Given the description of an element on the screen output the (x, y) to click on. 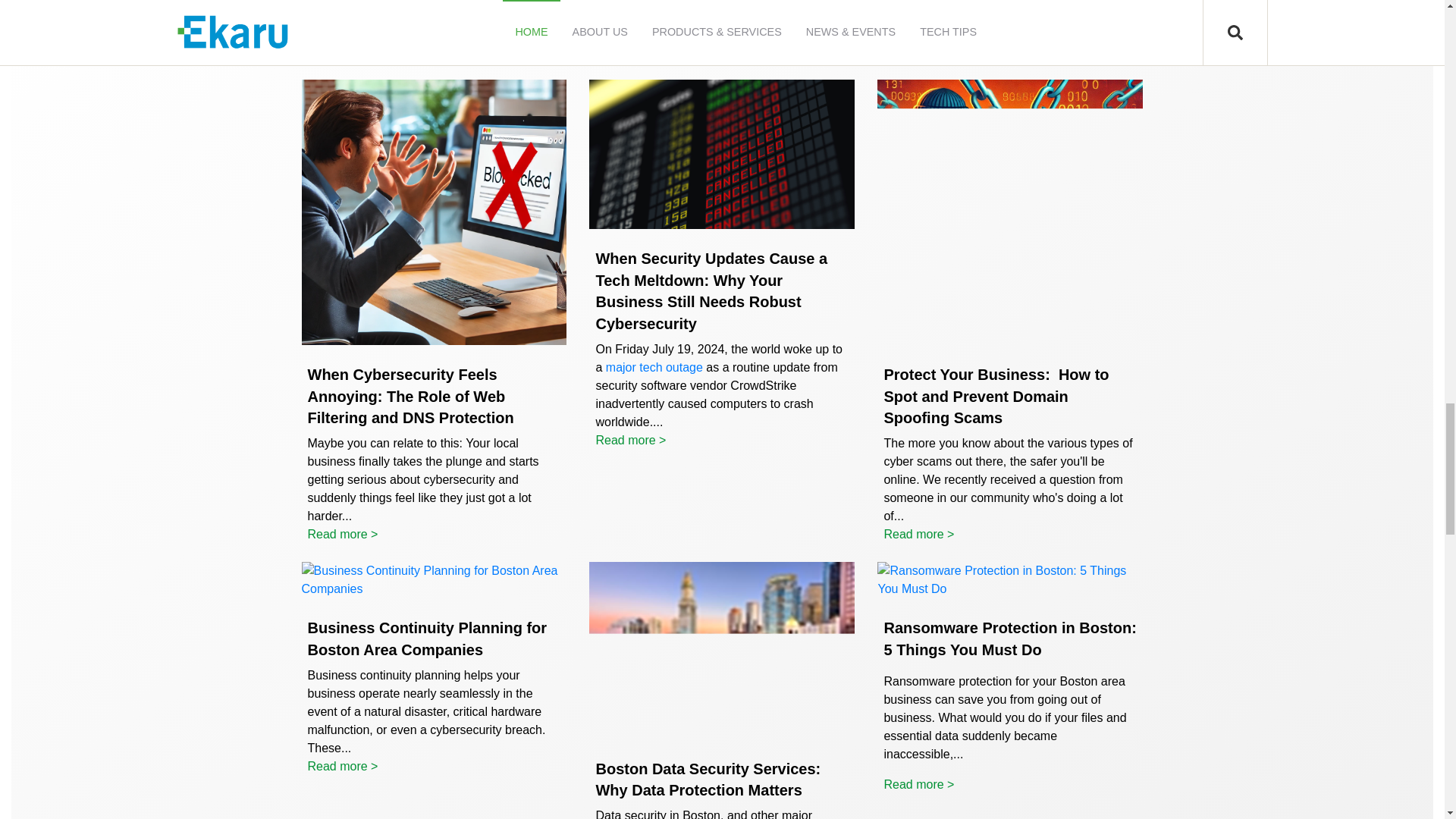
major tech outage (654, 367)
Boston Data Security Services: Why Data Protection Matters (708, 779)
Ransomware Protection in Boston: 5 Things You Must Do (1009, 638)
Business Continuity Planning for Boston Area Companies (427, 638)
